Given the description of an element on the screen output the (x, y) to click on. 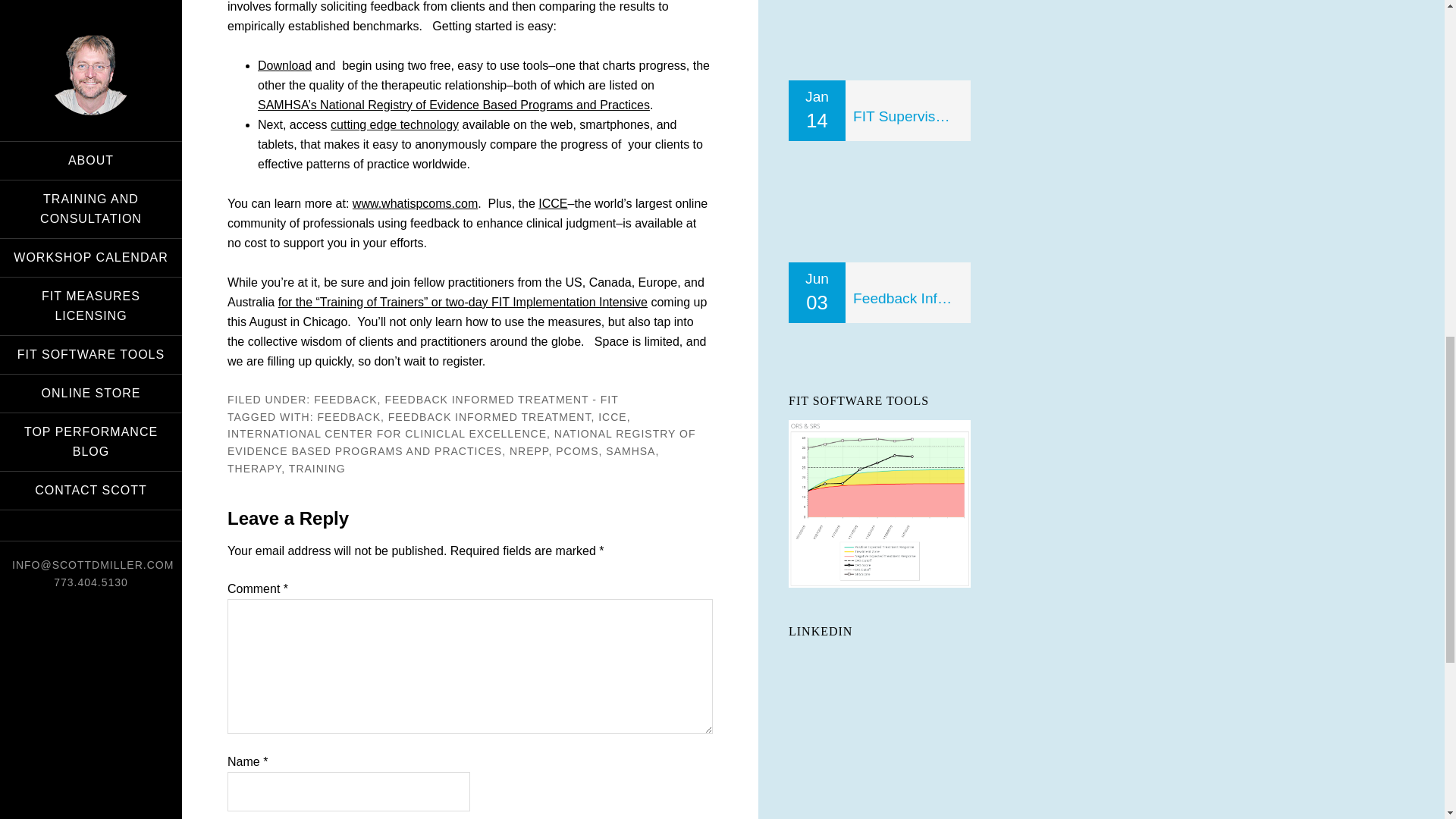
ICCE (552, 203)
FEEDBACK INFORMED TREATMENT (489, 417)
INTERNATIONAL CENTER FOR CLINICLAL EXCELLENCE (387, 433)
TRAINING (317, 468)
cutting edge technology (394, 124)
FEEDBACK INFORMED TREATMENT - FIT (500, 399)
SAMHSA (630, 451)
PCOMS (577, 451)
ICCE (612, 417)
Download (284, 65)
